Given the description of an element on the screen output the (x, y) to click on. 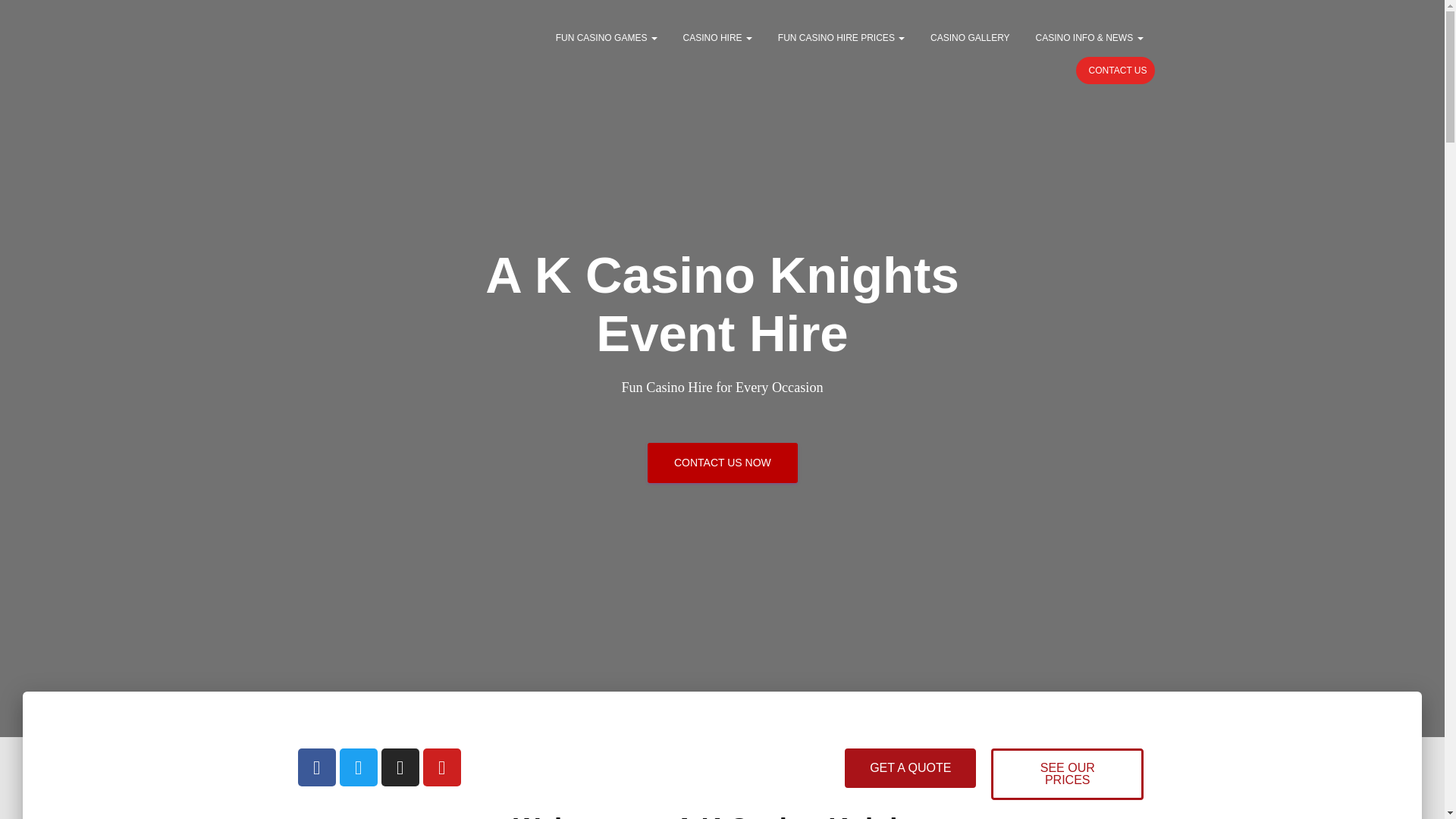
FUN CASINO GAMES (606, 37)
CASINO HIRE (716, 37)
Fun Casino games (606, 37)
